Given the description of an element on the screen output the (x, y) to click on. 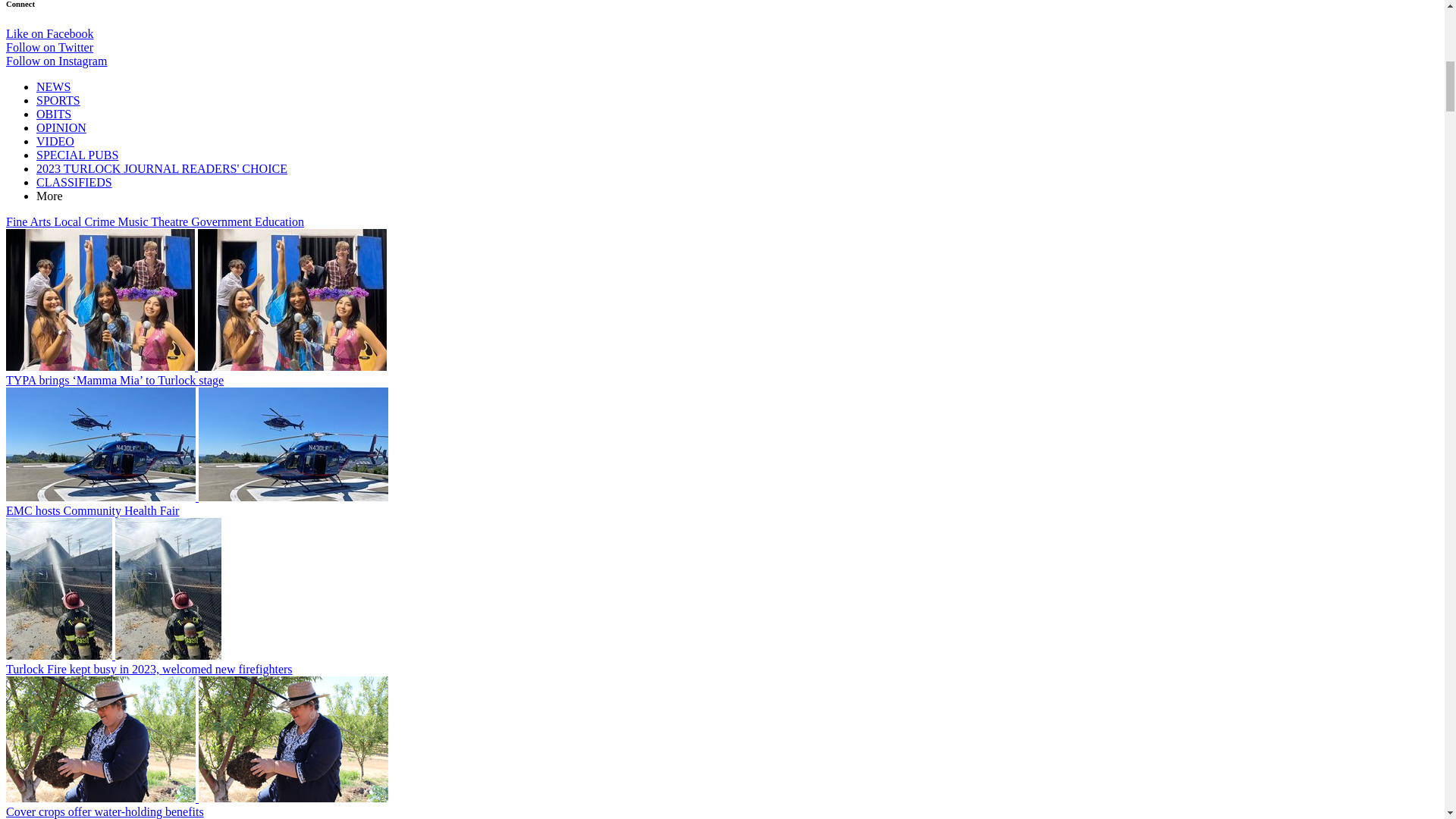
Follow on Twitter (49, 47)
Follow on Instagram (55, 60)
Like on Facebook (49, 33)
